Given the description of an element on the screen output the (x, y) to click on. 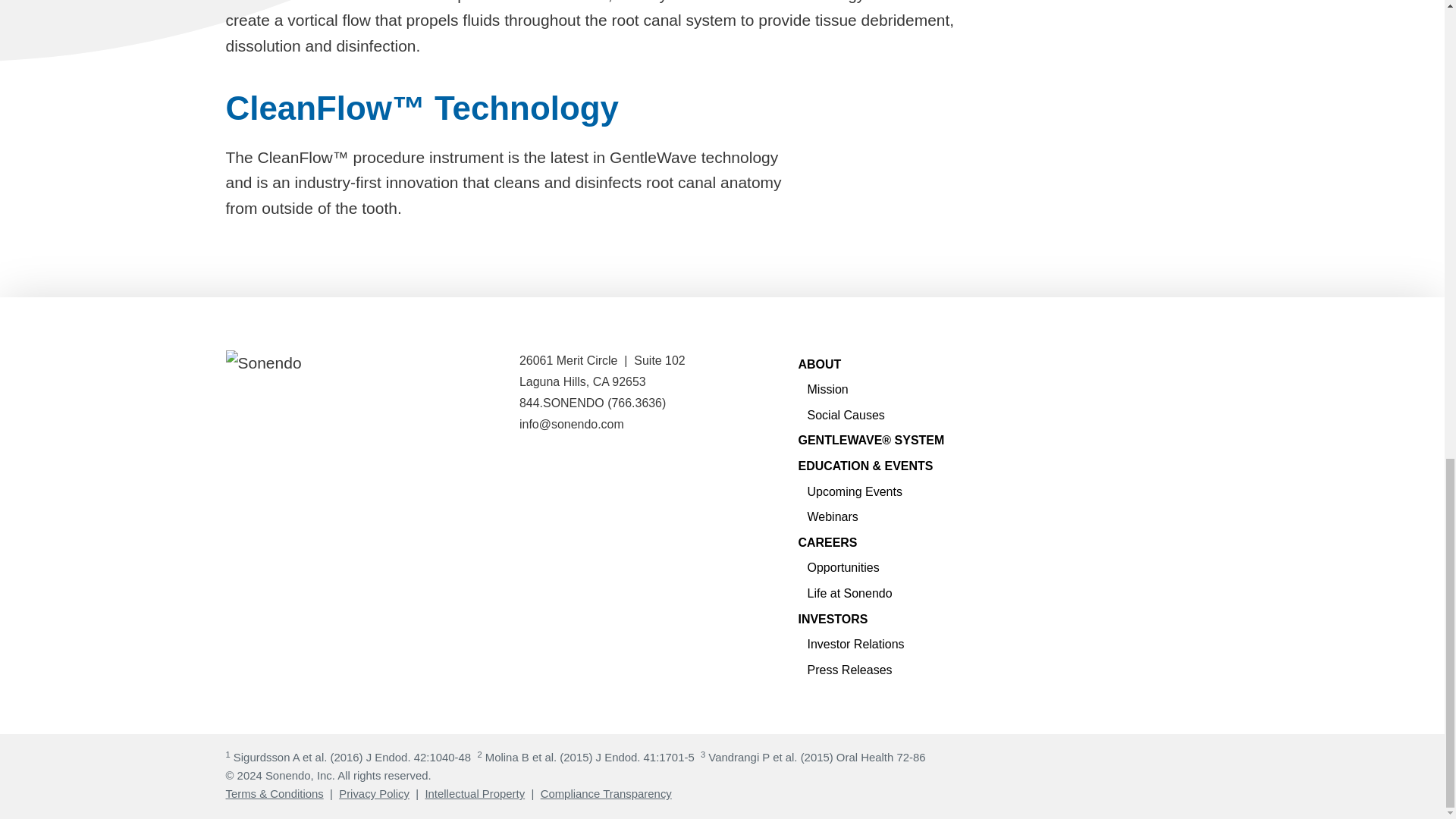
Webinars (831, 516)
Social Causes (844, 414)
Mission (826, 389)
Upcoming Events (853, 491)
